Given the description of an element on the screen output the (x, y) to click on. 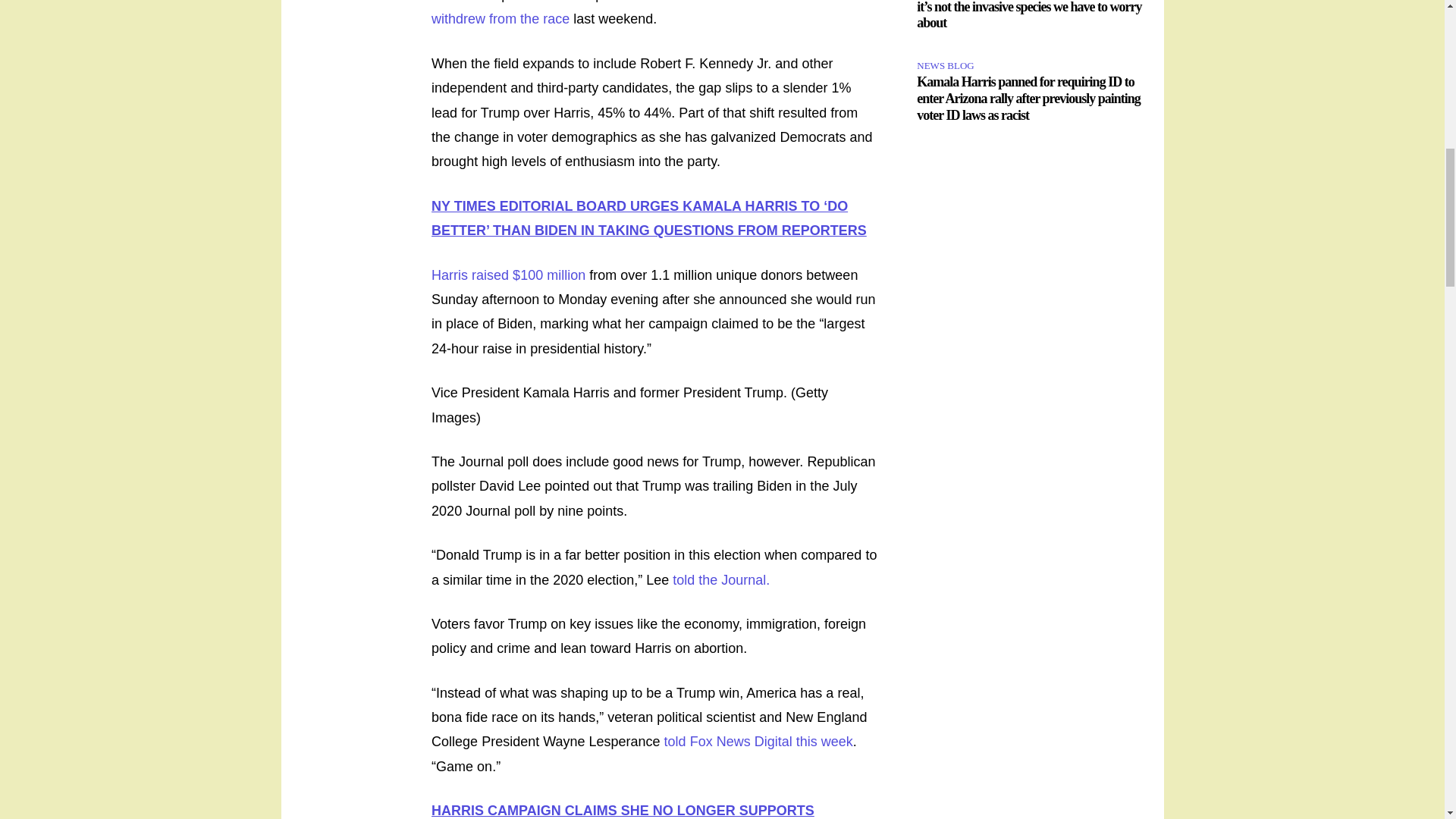
told Fox News Digital this week (758, 741)
before Biden withdrew from the race (635, 13)
told the Journal. (721, 579)
